Given the description of an element on the screen output the (x, y) to click on. 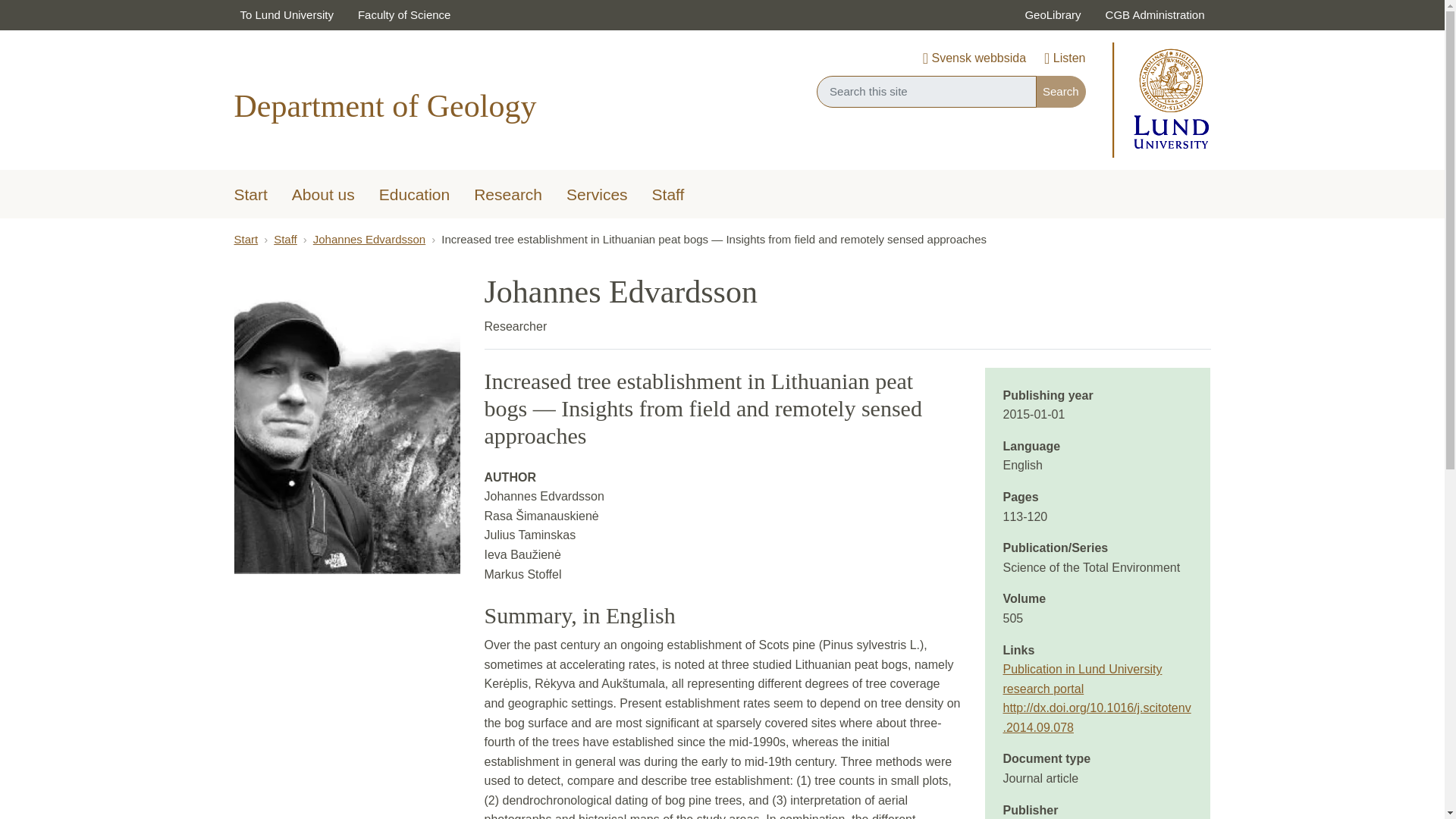
CGB Administration (1155, 15)
Research (507, 195)
Search (1060, 91)
Svensk webbsida (974, 59)
GeoLibrary (1052, 15)
To Lund University (286, 15)
Start (250, 195)
Search (1060, 91)
Education (413, 195)
Listen (1063, 59)
